Given the description of an element on the screen output the (x, y) to click on. 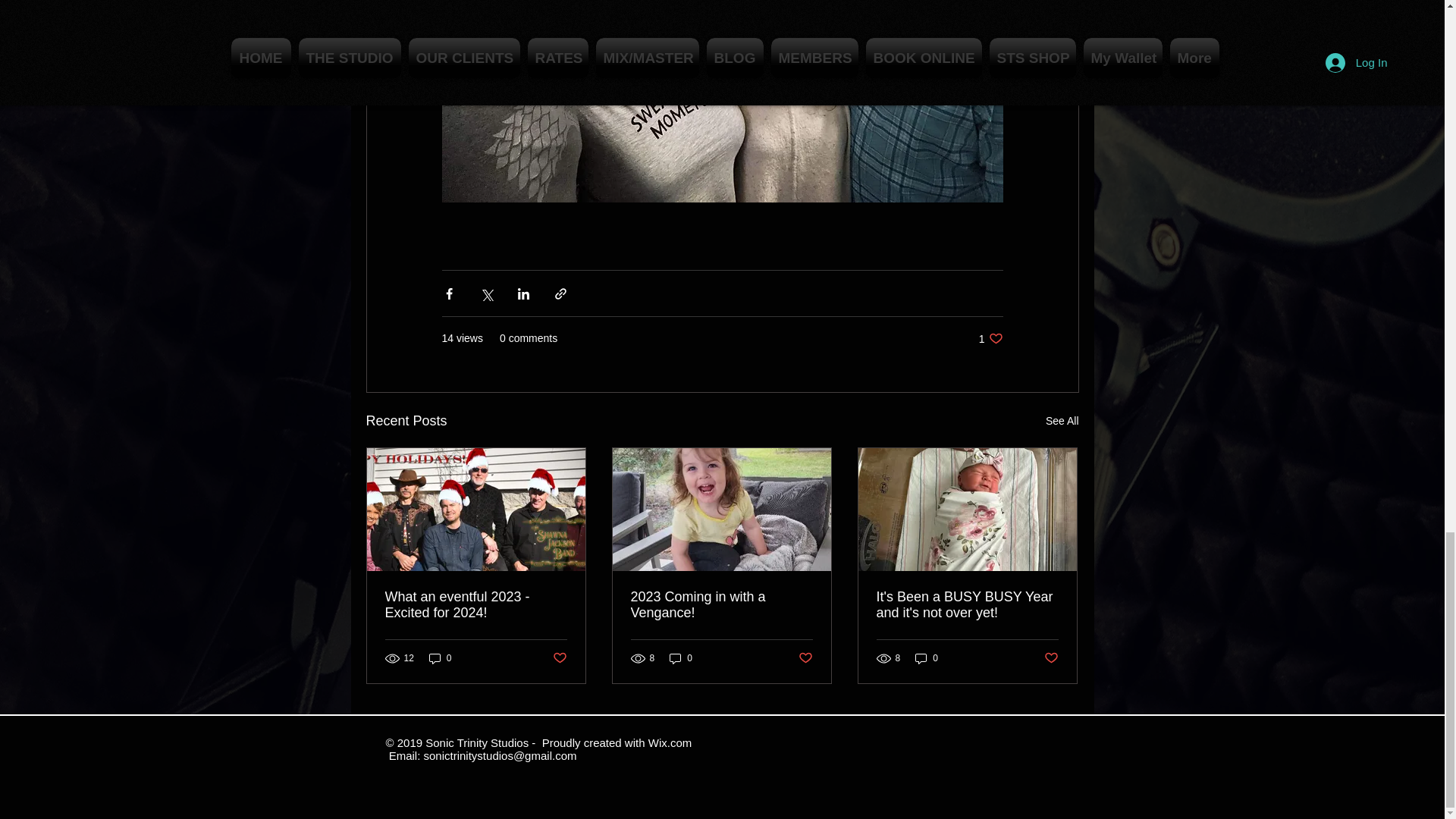
Post not marked as liked (558, 658)
Post not marked as liked (804, 658)
0 (440, 658)
0 (681, 658)
See All (1061, 421)
2023 Coming in with a Vengance! (721, 604)
It's Been a BUSY BUSY Year and it's not over yet! (967, 604)
Wix.com (670, 742)
Post not marked as liked (1050, 658)
